Given the description of an element on the screen output the (x, y) to click on. 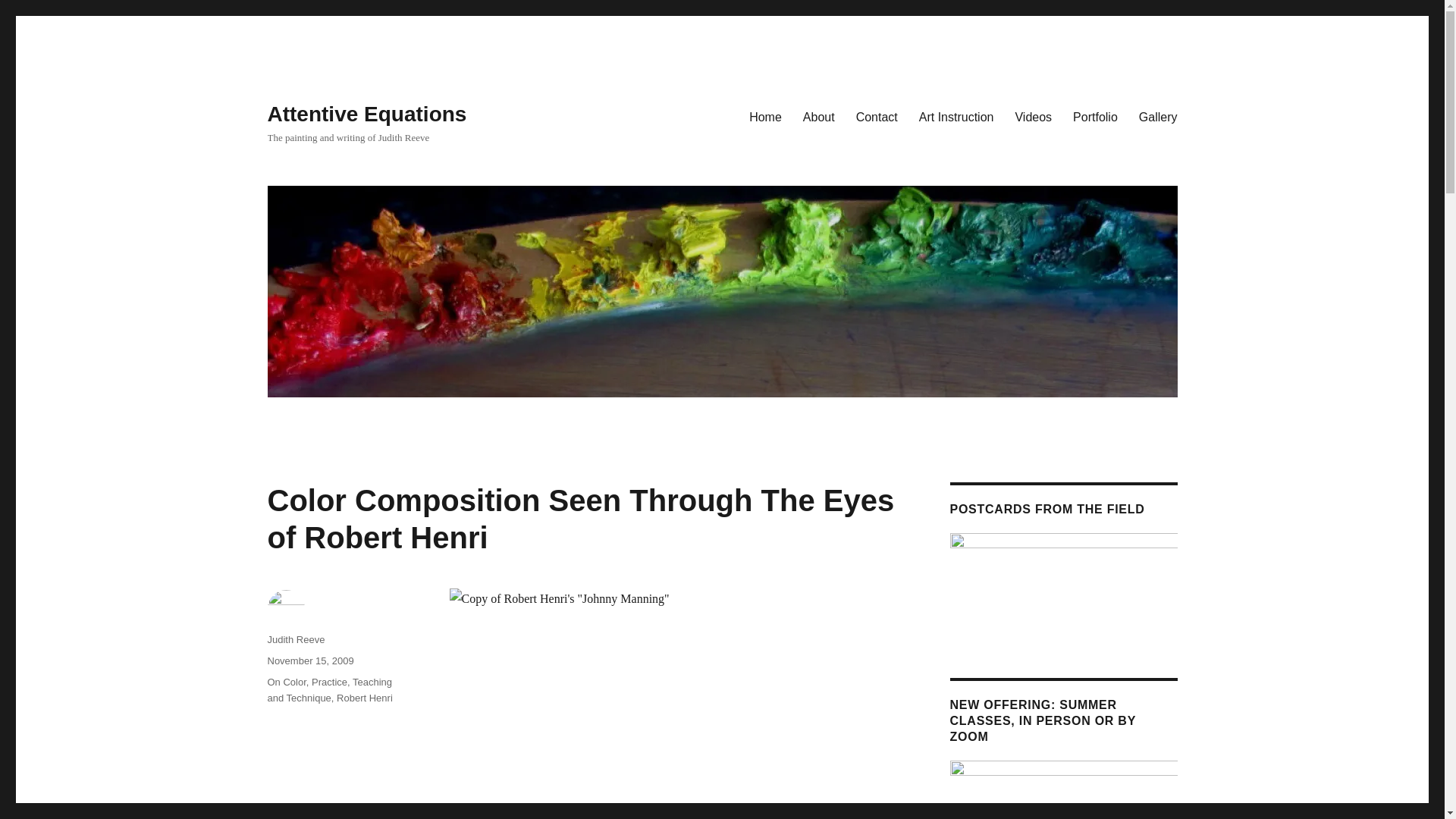
About (818, 116)
Art Instruction (956, 116)
Gallery (1158, 116)
Robert Henri (364, 697)
Postcards from the Field (1062, 584)
On Color (285, 681)
November 15, 2009 (309, 660)
Home (765, 116)
NEW OFFERING: Fall and Winter Classes (1062, 789)
Portfolio (1095, 116)
Attentive Equations (365, 114)
Judith Reeve (295, 639)
Videos (1033, 116)
Contact (876, 116)
Practice, Teaching and Technique (328, 689)
